Given the description of an element on the screen output the (x, y) to click on. 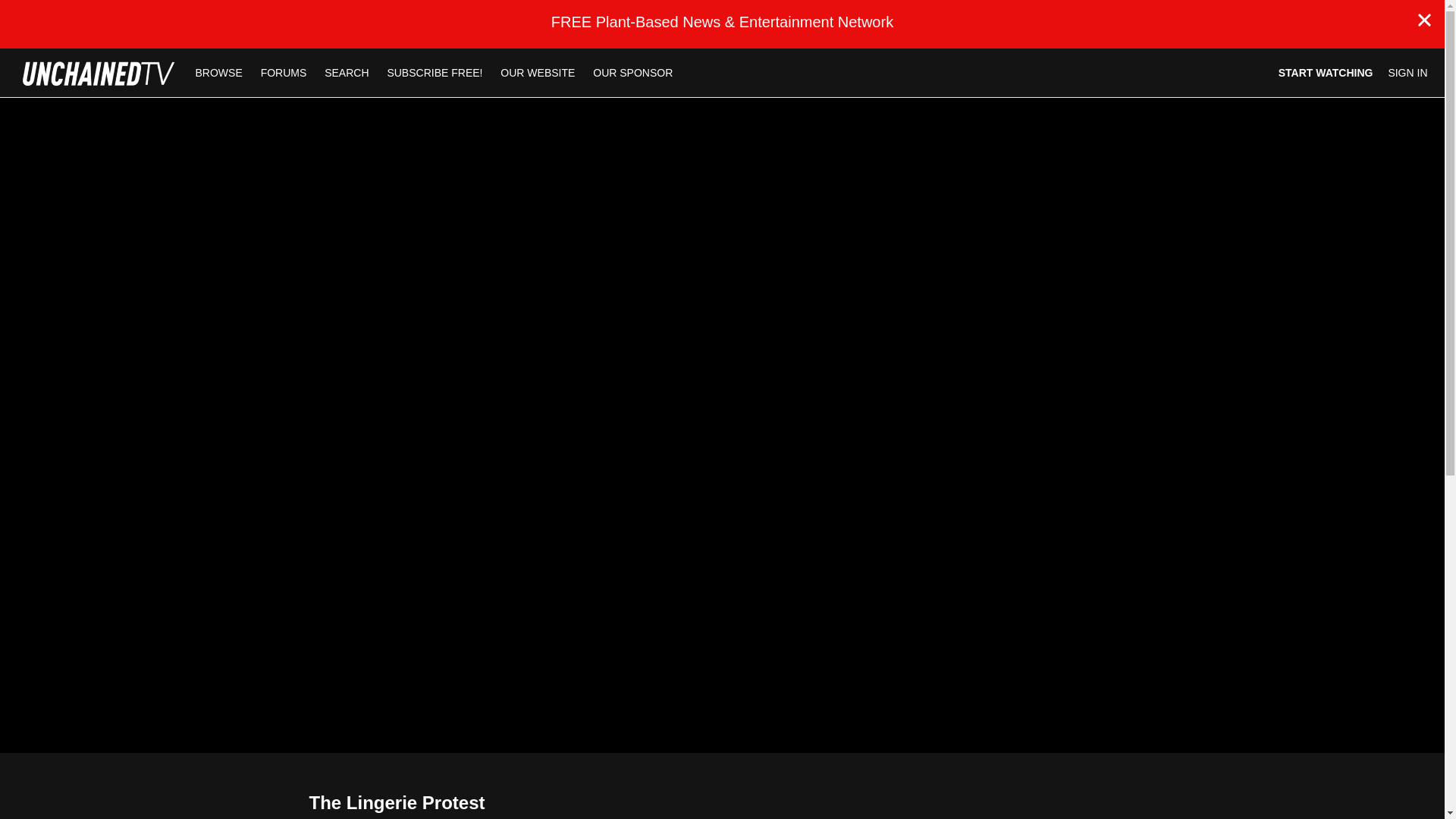
Skip to main content (48, 7)
SEARCH (347, 72)
SUBSCRIBE FREE! (433, 72)
SIGN IN (1406, 72)
OUR WEBSITE (537, 72)
BROWSE (220, 72)
FORUMS (285, 72)
OUR SPONSOR (632, 72)
START WATCHING (1325, 72)
